Given the description of an element on the screen output the (x, y) to click on. 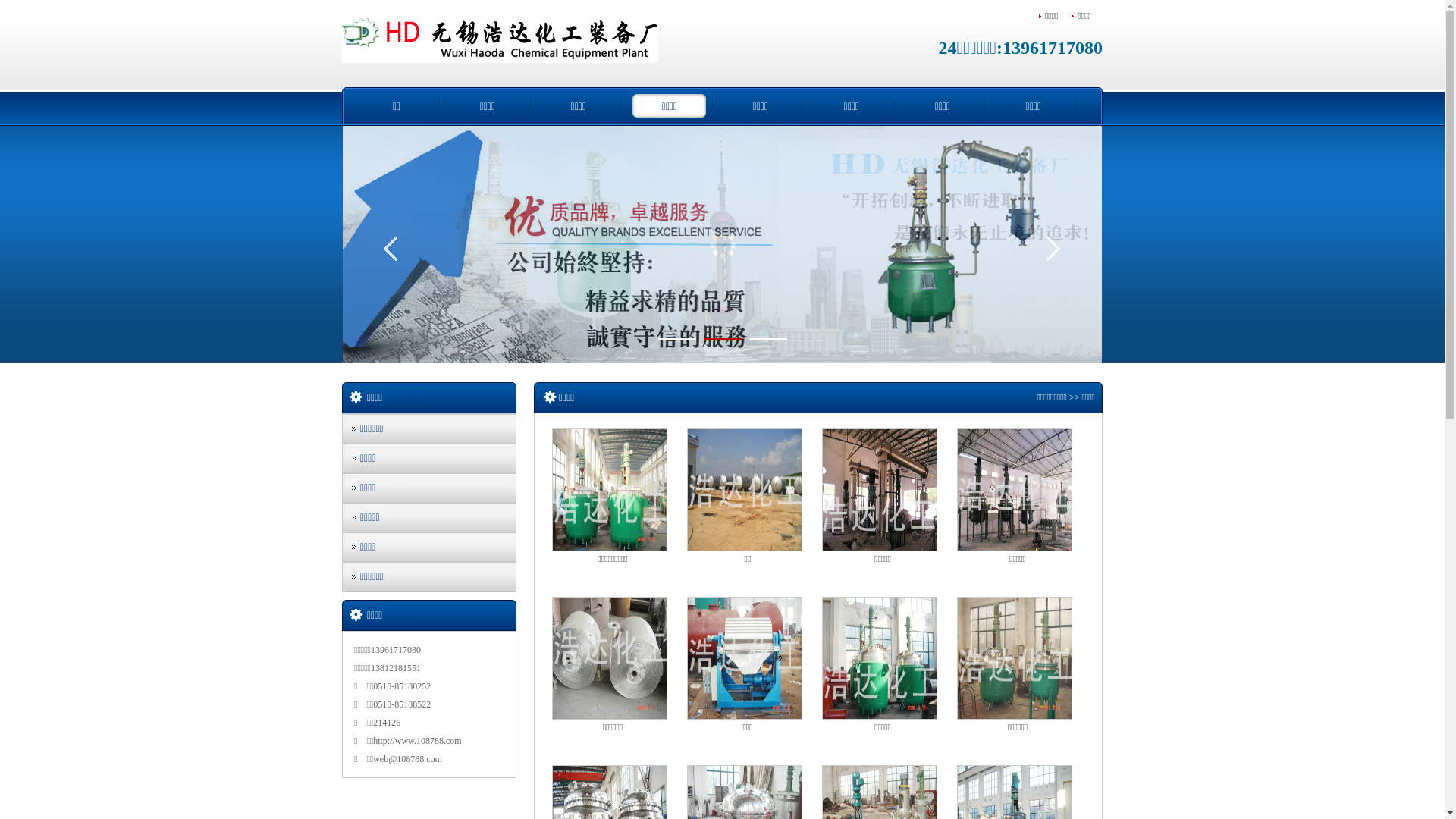
2 Element type: text (722, 339)
1 Element type: text (677, 339)
3 Element type: text (768, 339)
